Given the description of an element on the screen output the (x, y) to click on. 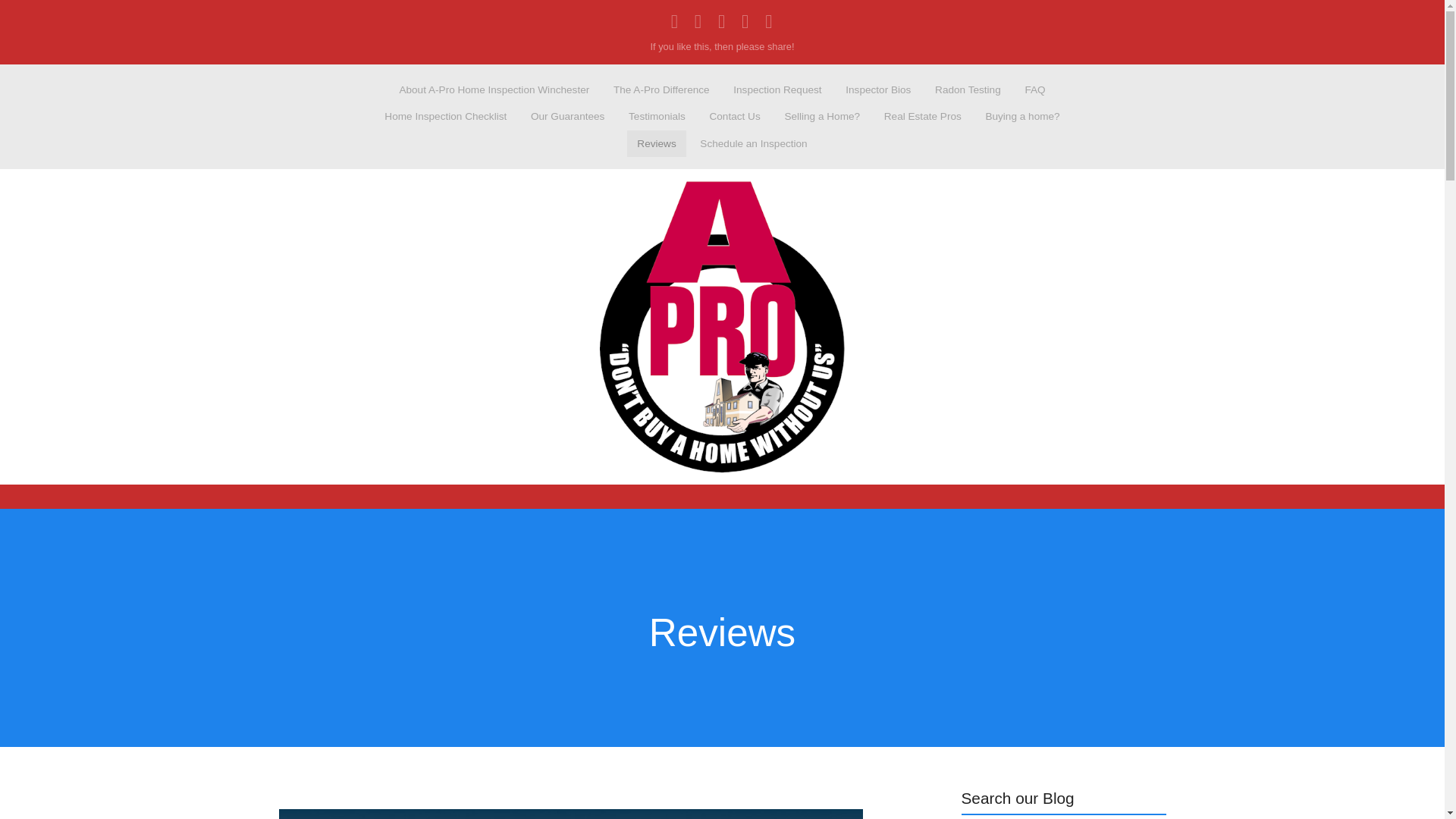
FAQ (1034, 89)
Share On Facebook (675, 21)
Real Estate Pros (922, 117)
About A-Pro Home Inspection Winchester (493, 89)
Radon Testing (967, 89)
Home Inspection Checklist (445, 117)
Share On Twitter (745, 21)
Reviews (657, 143)
Schedule an Inspection (754, 143)
Share On Pinterest (768, 21)
Share On Linkedin (698, 21)
Reviews (721, 632)
Inspection Request (777, 89)
Buying a home? (1022, 117)
Our Guarantees (566, 117)
